Given the description of an element on the screen output the (x, y) to click on. 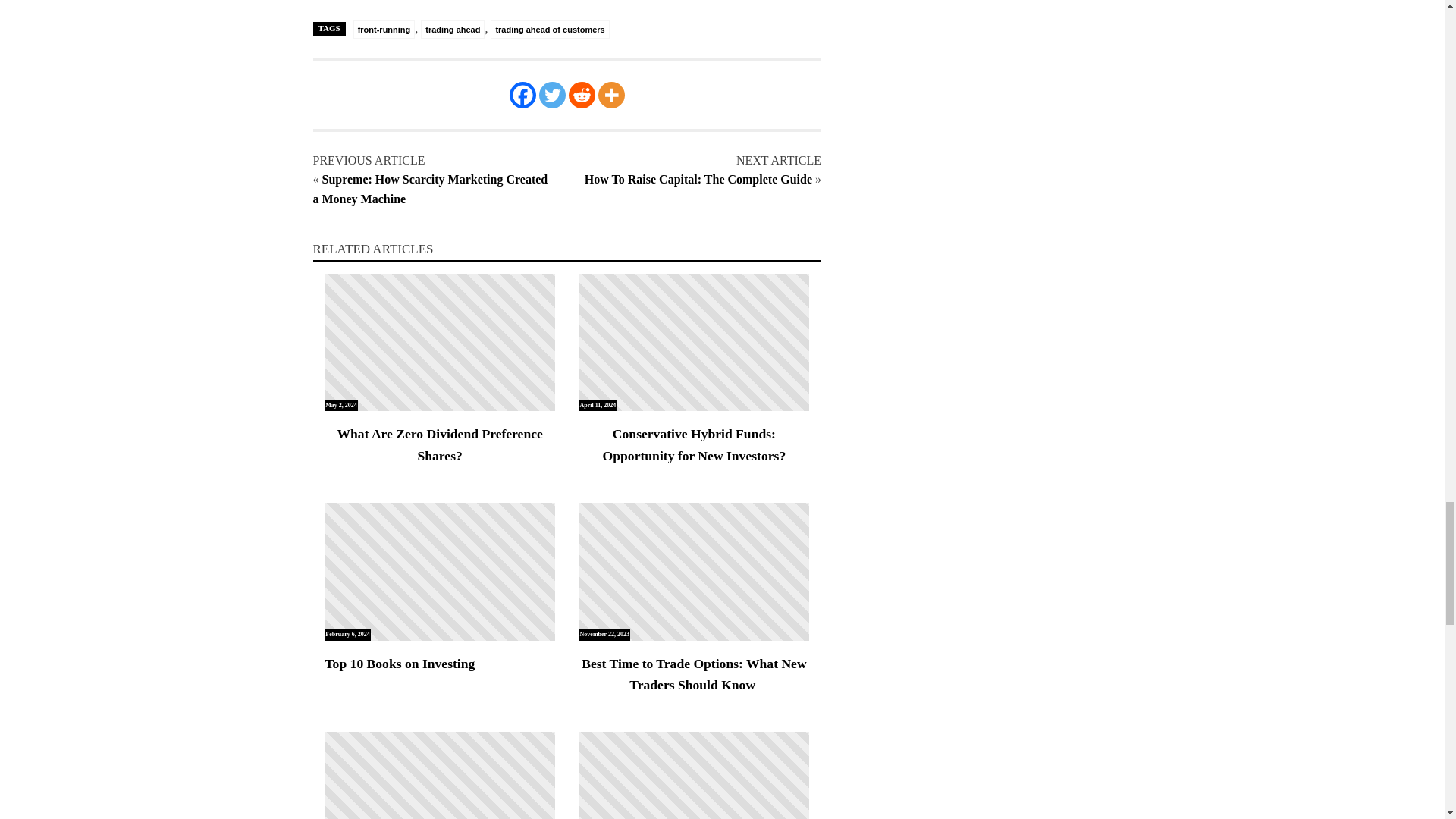
Reddit (582, 94)
More (611, 94)
October 23, 2023 (439, 775)
November 22, 2023 (694, 571)
Supreme: How Scarcity Marketing Created a Money Machine (430, 188)
trading ahead of customers (549, 29)
trading ahead (452, 29)
What Are Zero Dividend Preference Shares? (439, 444)
Facebook (522, 94)
How To Raise Capital: The Complete Guide (698, 178)
Twitter (552, 94)
Best Time to Trade Options: What New Traders Should Know  (694, 673)
Conservative Hybrid Funds: Opportunity for New Investors? (694, 444)
February 6, 2024 (439, 571)
front-running (383, 29)
